Given the description of an element on the screen output the (x, y) to click on. 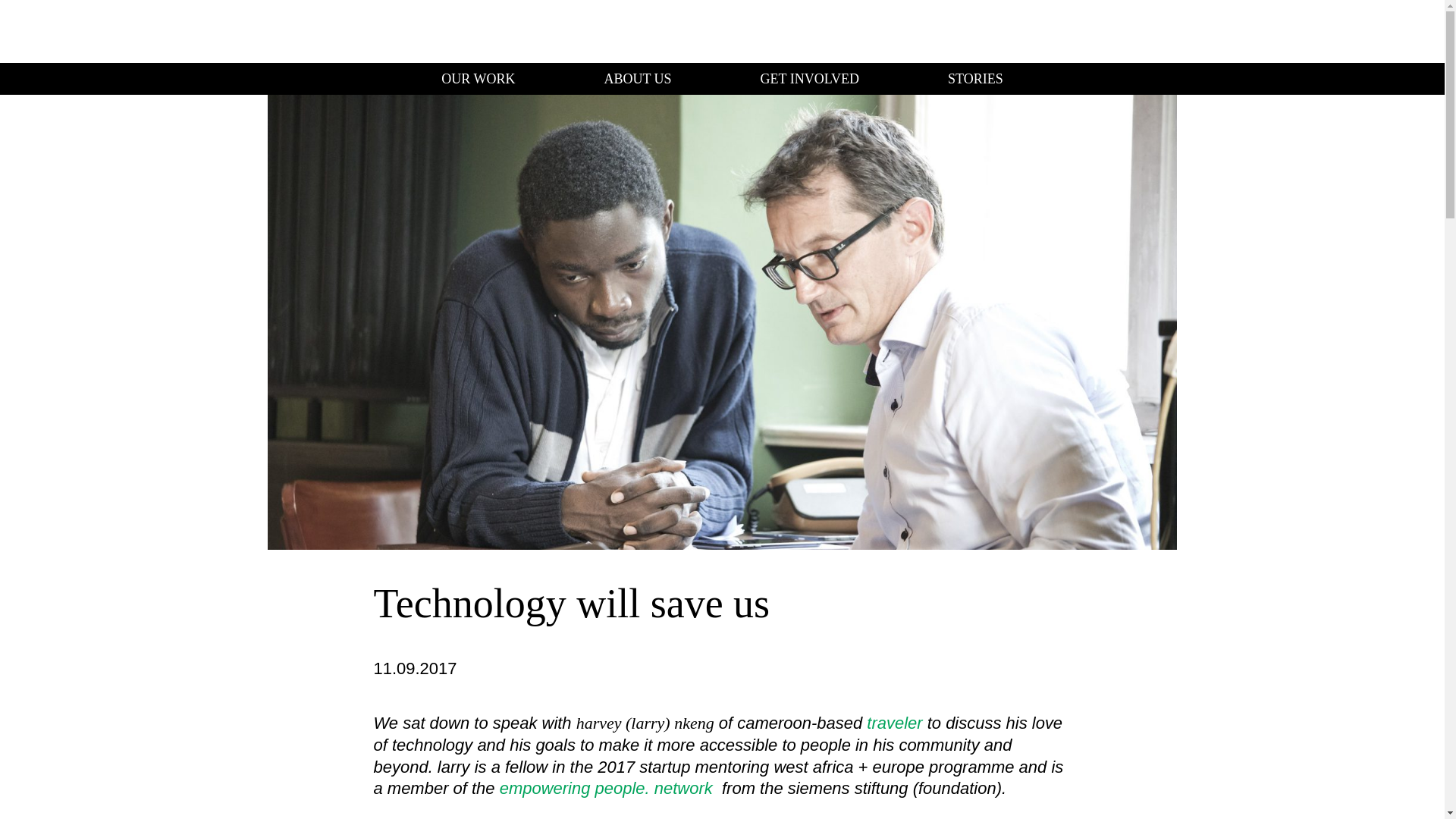
empowering people. network (606, 787)
Facebook (1364, 31)
traveler (893, 722)
ABOUT US (641, 79)
Twitter (1398, 31)
LinkedIn (1331, 31)
GET INVOLVED (813, 79)
empowering entrepreneurship (78, 30)
Instagram (1298, 31)
STORIES (975, 79)
